Given the description of an element on the screen output the (x, y) to click on. 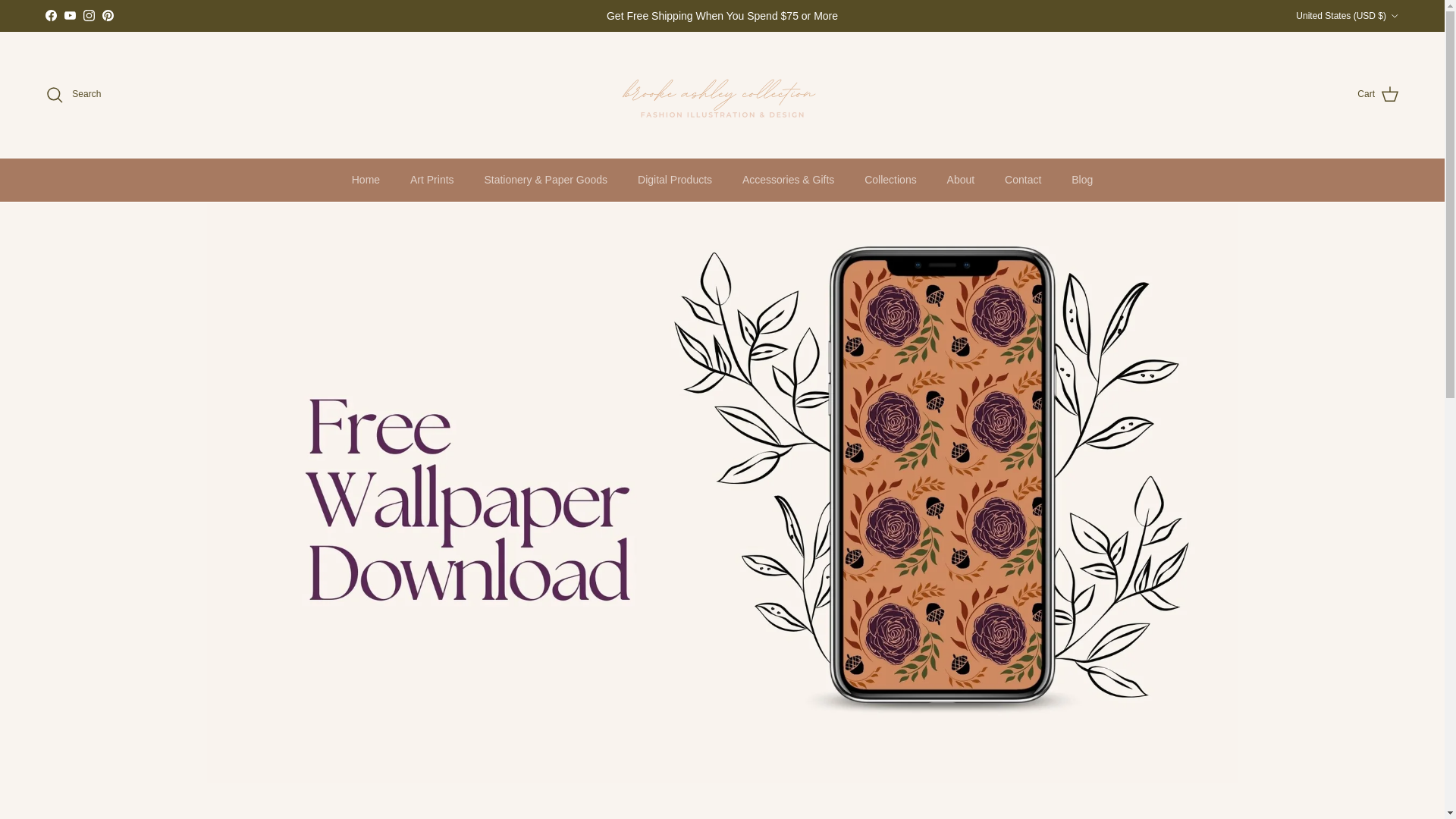
Cart (1377, 94)
Brooke Ashley Collection  on Pinterest (107, 15)
Brooke Ashley Collection  on YouTube (69, 15)
Brooke Ashley Collection  (721, 94)
Instagram (88, 15)
Digital Products (674, 179)
Facebook (50, 15)
Brooke Ashley Collection  on Instagram (88, 15)
Pinterest (107, 15)
Search (72, 94)
Brooke Ashley Collection  on Facebook (50, 15)
Art Prints (431, 179)
Home (365, 179)
YouTube (69, 15)
